Given the description of an element on the screen output the (x, y) to click on. 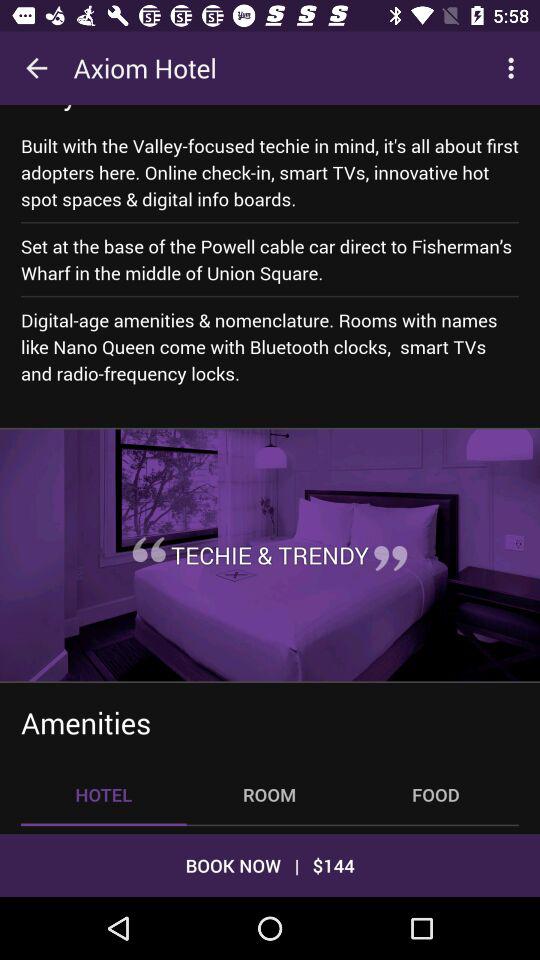
choose the icon to the left of the axiom hotel icon (36, 68)
